Given the description of an element on the screen output the (x, y) to click on. 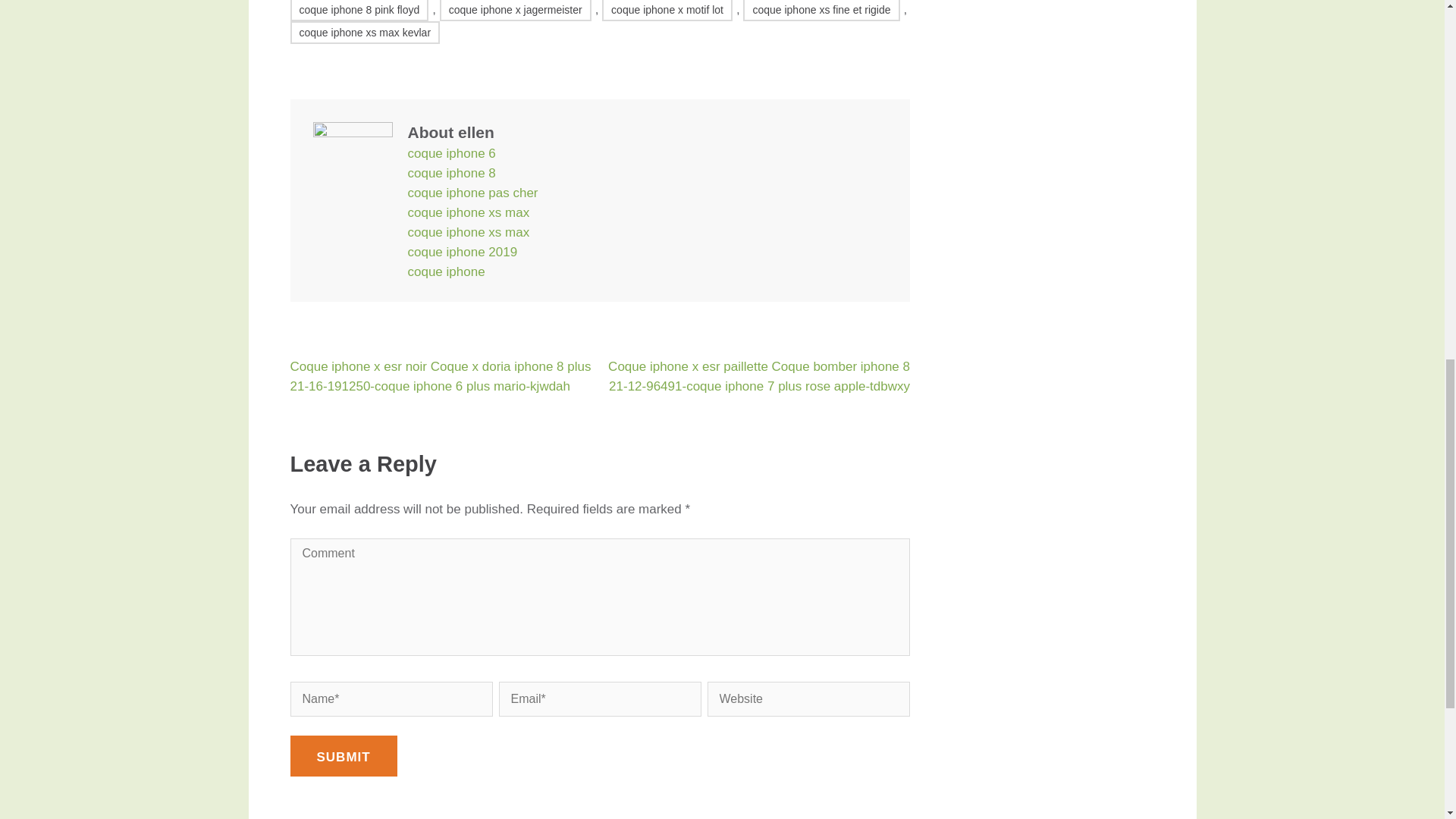
coque iphone xs fine et rigide (820, 10)
coque iphone xs max (468, 232)
coque iphone 8 pink floyd (358, 10)
coque iphone x jagermeister (515, 10)
coque iphone 8 (451, 173)
coque iphone 2019 (462, 251)
coque iphone xs max kevlar (364, 32)
coque iphone x motif lot (667, 10)
coque iphone (445, 271)
coque iphone pas cher (472, 192)
coque iphone xs max (468, 212)
Submit (342, 755)
coque iphone 6 (451, 153)
